Given the description of an element on the screen output the (x, y) to click on. 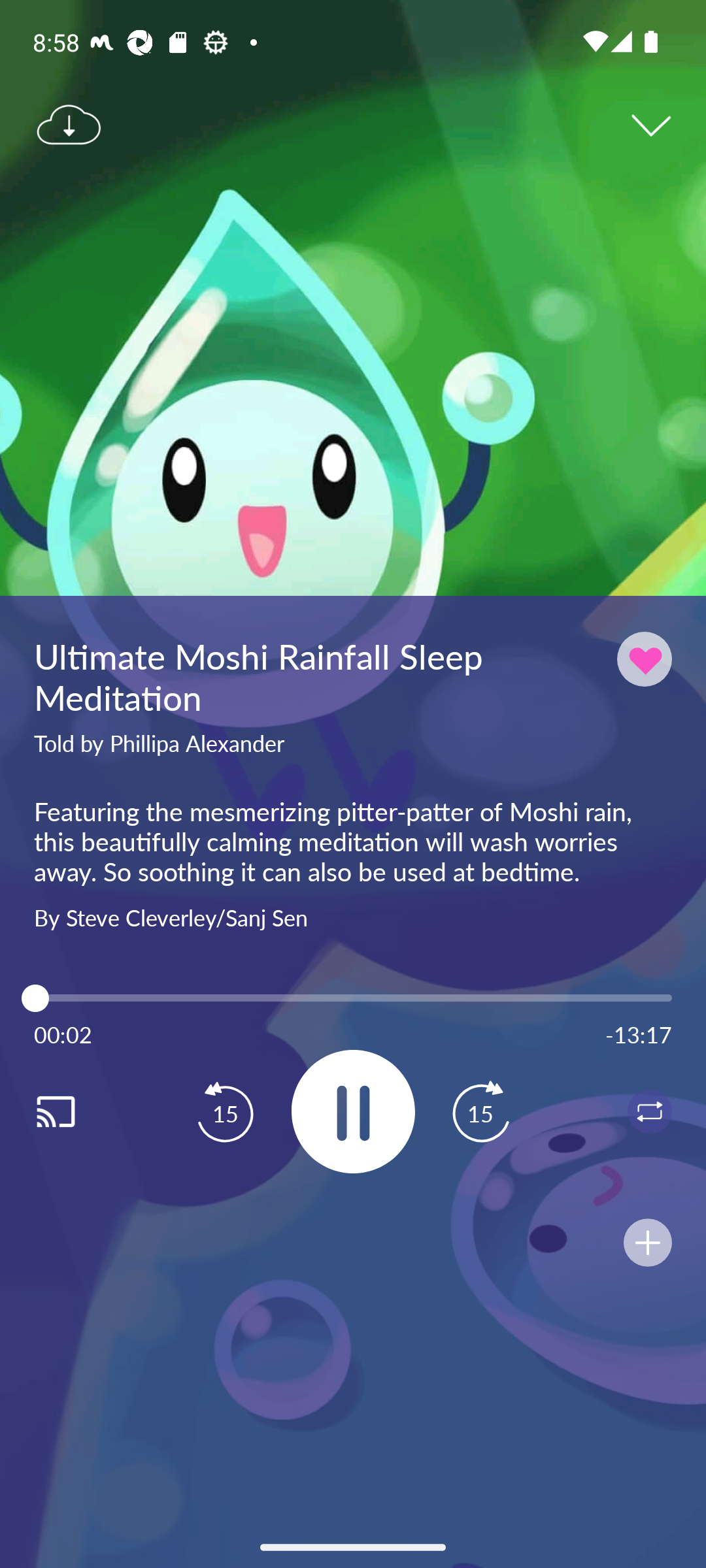
2.0 (352, 997)
Cast. Disconnected (76, 1111)
